Given the description of an element on the screen output the (x, y) to click on. 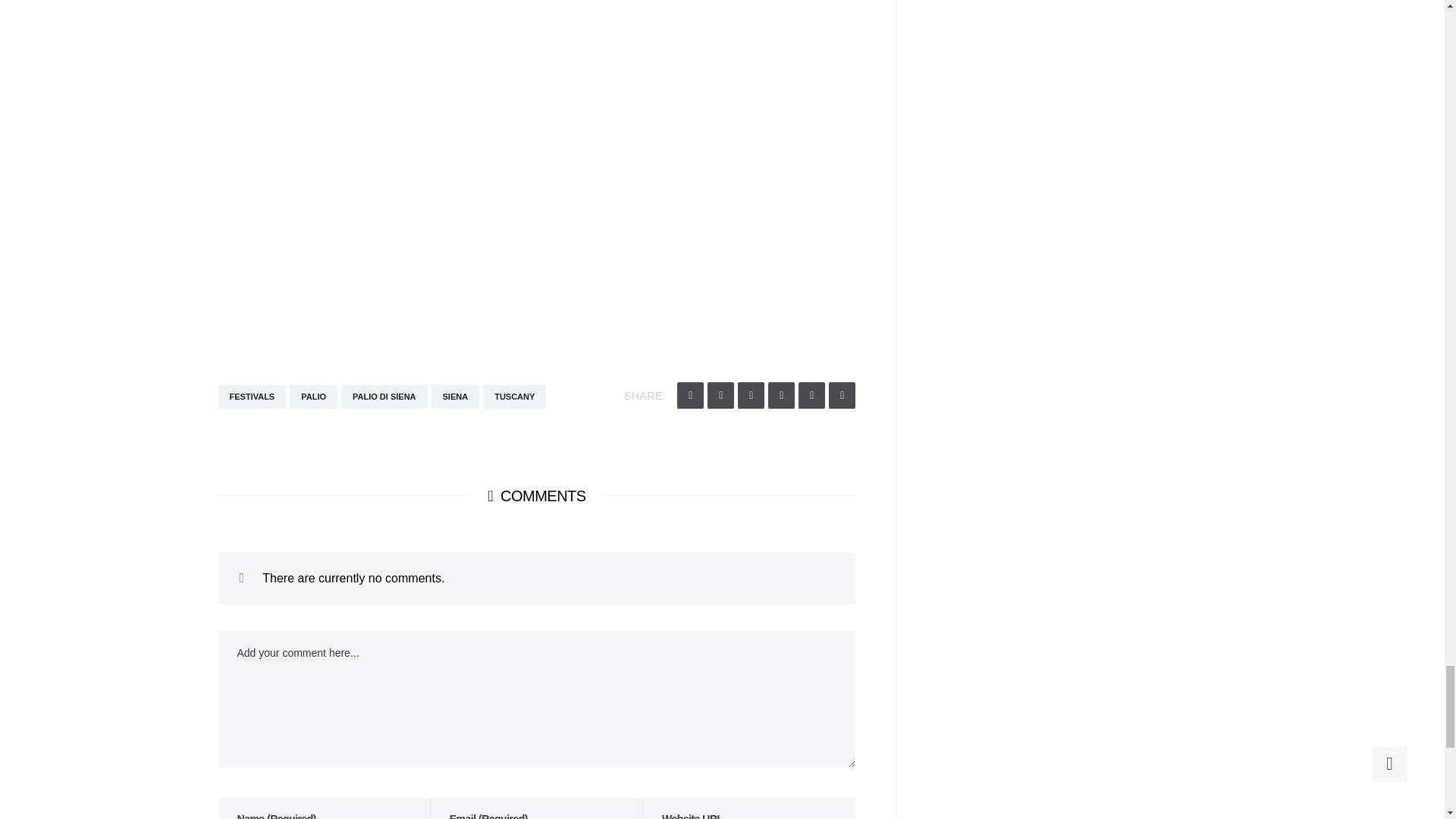
FESTIVALS (252, 396)
PALIO (313, 396)
Reddit (781, 395)
Pinterest (811, 395)
Twitter (690, 395)
Google Plus (751, 395)
Facebook (720, 395)
LinkedIn (842, 395)
